Given the description of an element on the screen output the (x, y) to click on. 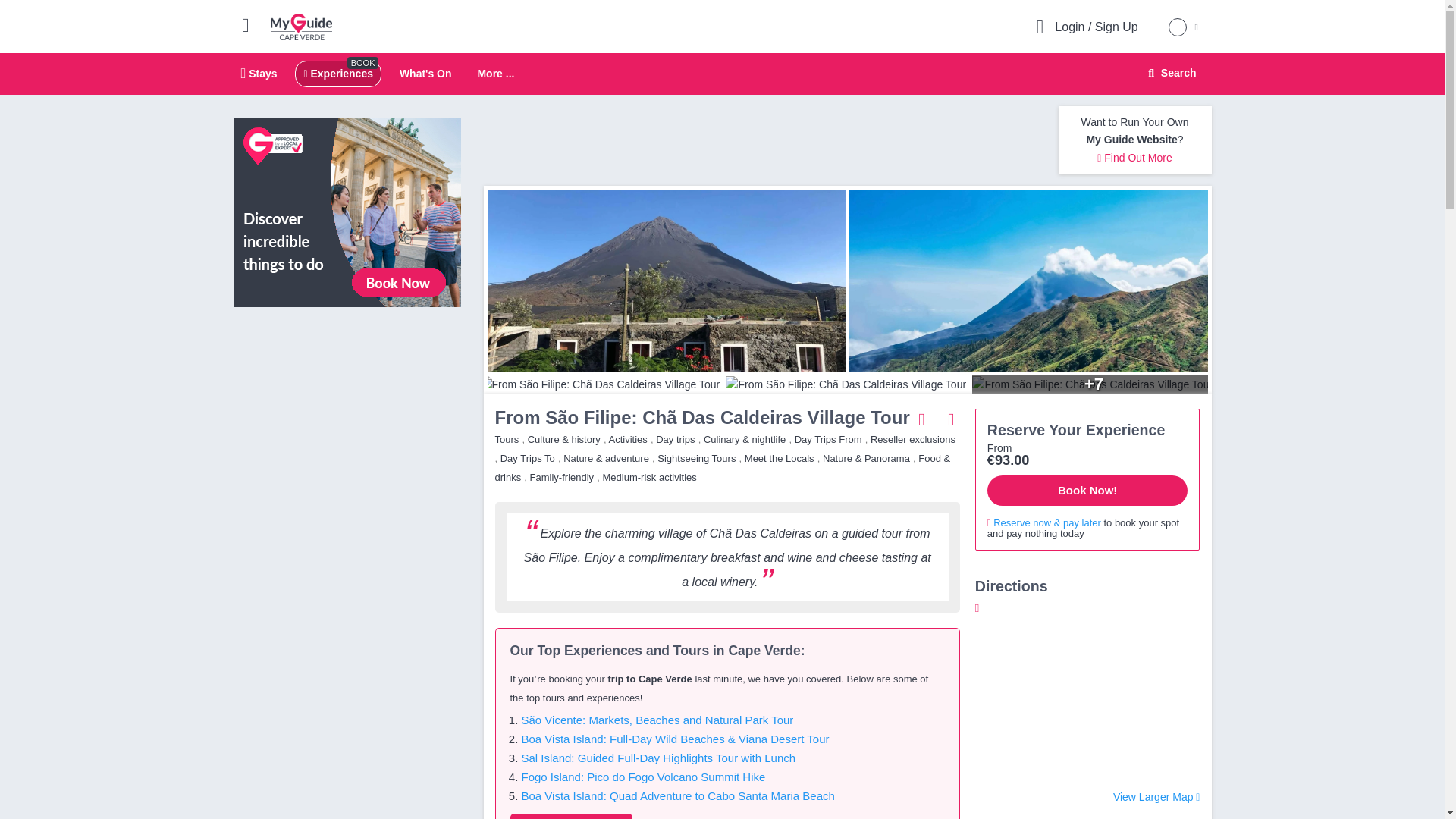
Stays (259, 73)
Share with Friends (922, 419)
What's On (721, 74)
View All Experiences (424, 73)
Experiences (570, 816)
Search (337, 73)
More ... (1169, 72)
Search Website (495, 73)
My Guide Cape Verde (1170, 73)
